Given the description of an element on the screen output the (x, y) to click on. 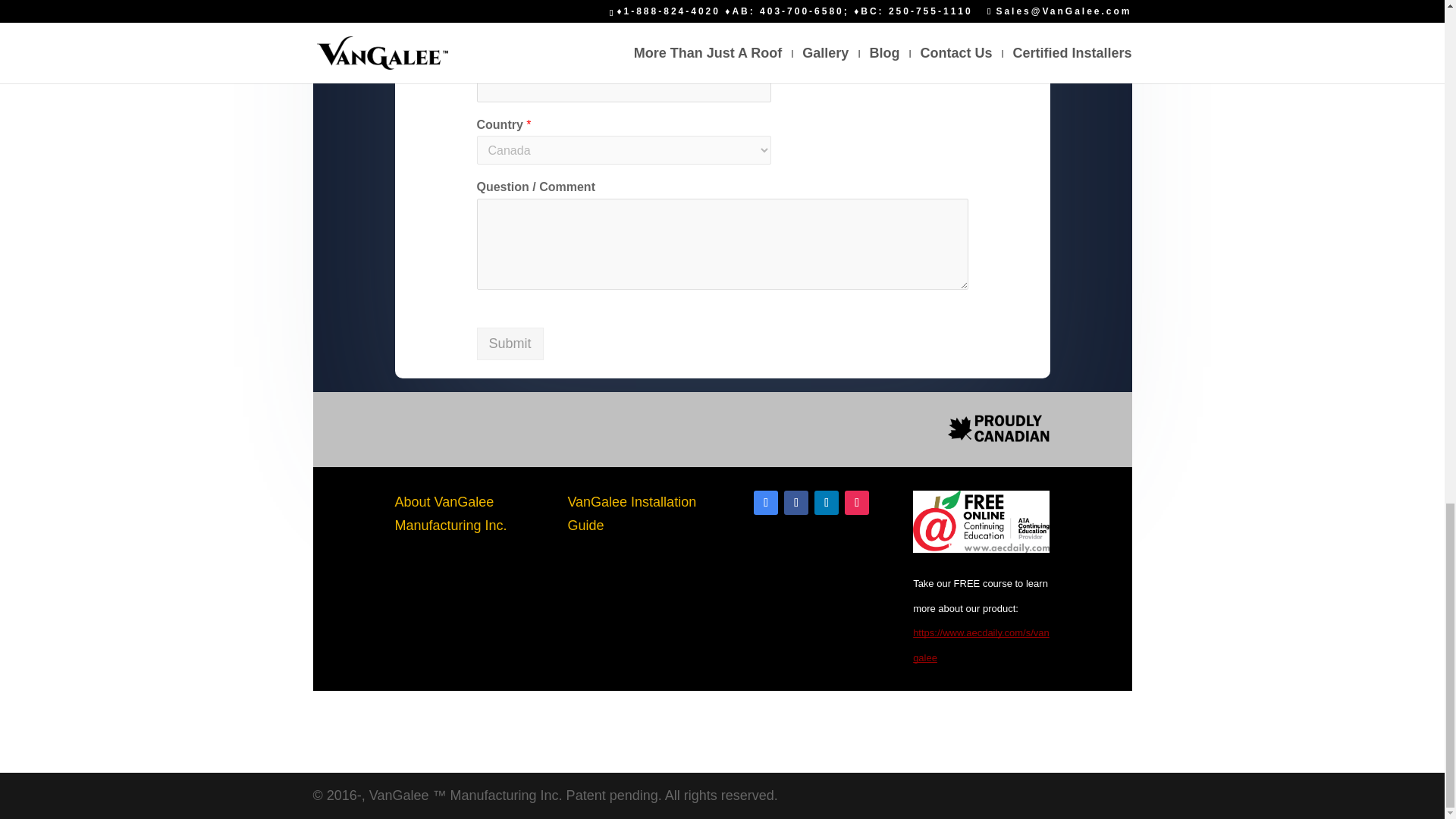
Follow on Google (765, 502)
VanGalee Installation Guide (631, 513)
Follow on Instagram (856, 502)
About VanGalee Manufacturing Inc. (450, 513)
Proudly Canadian (998, 429)
Follow on LinkedIn (825, 502)
Submit (509, 343)
Follow on Facebook (796, 502)
